Given the description of an element on the screen output the (x, y) to click on. 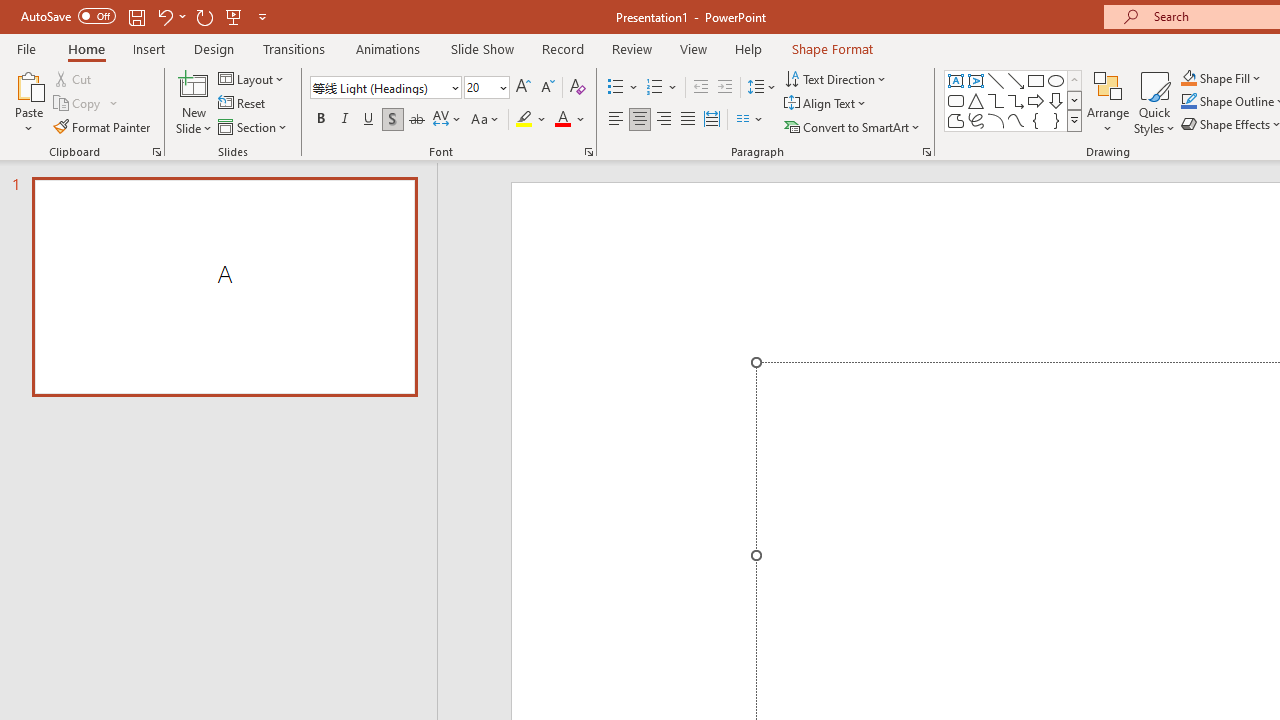
Shape Outline Blue, Accent 1 (1188, 101)
